Given the description of an element on the screen output the (x, y) to click on. 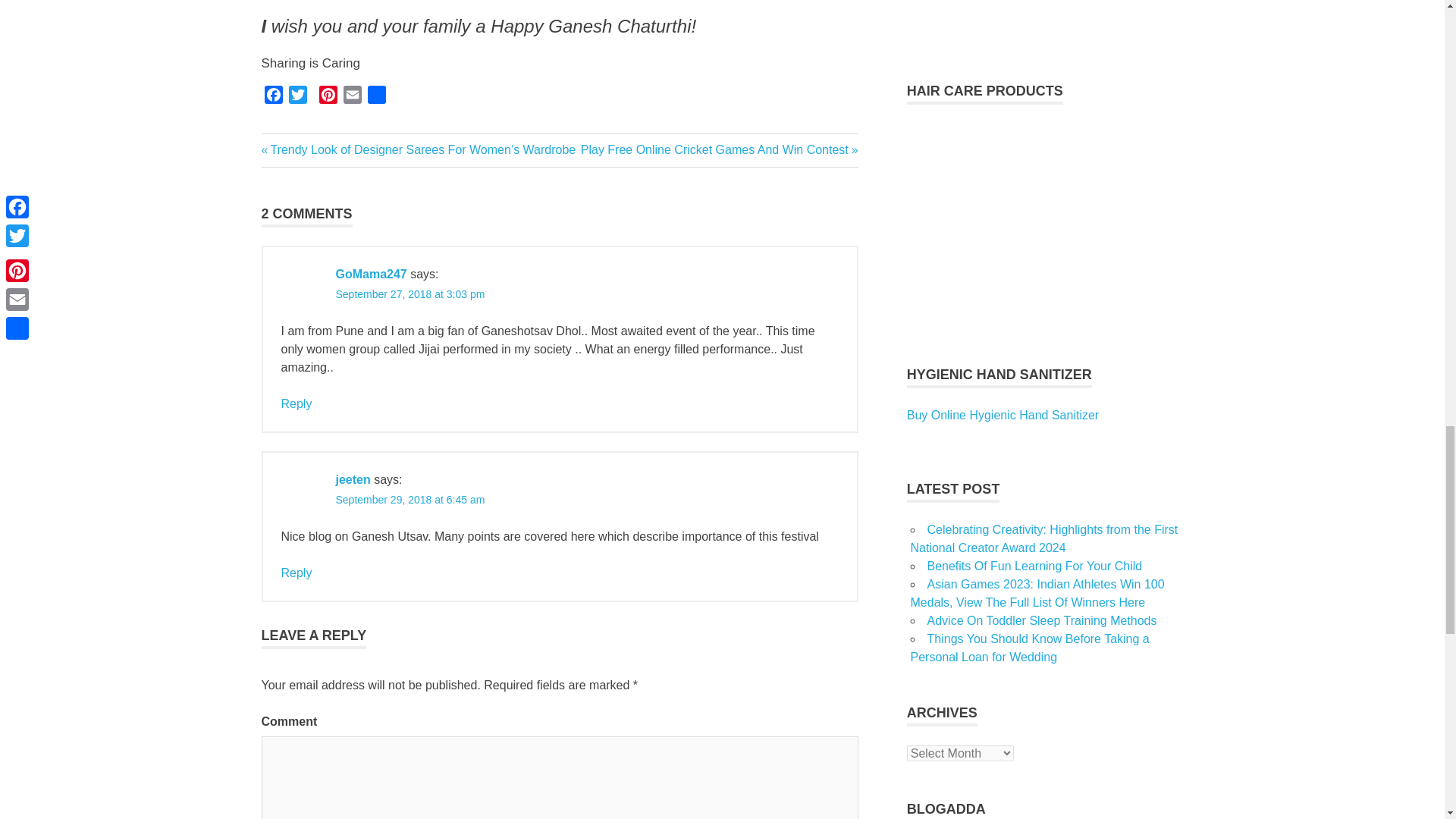
Facebook (272, 96)
Pinterest (327, 96)
Facebook (272, 96)
Email (351, 96)
Twitter (296, 96)
Twitter (296, 96)
